Given the description of an element on the screen output the (x, y) to click on. 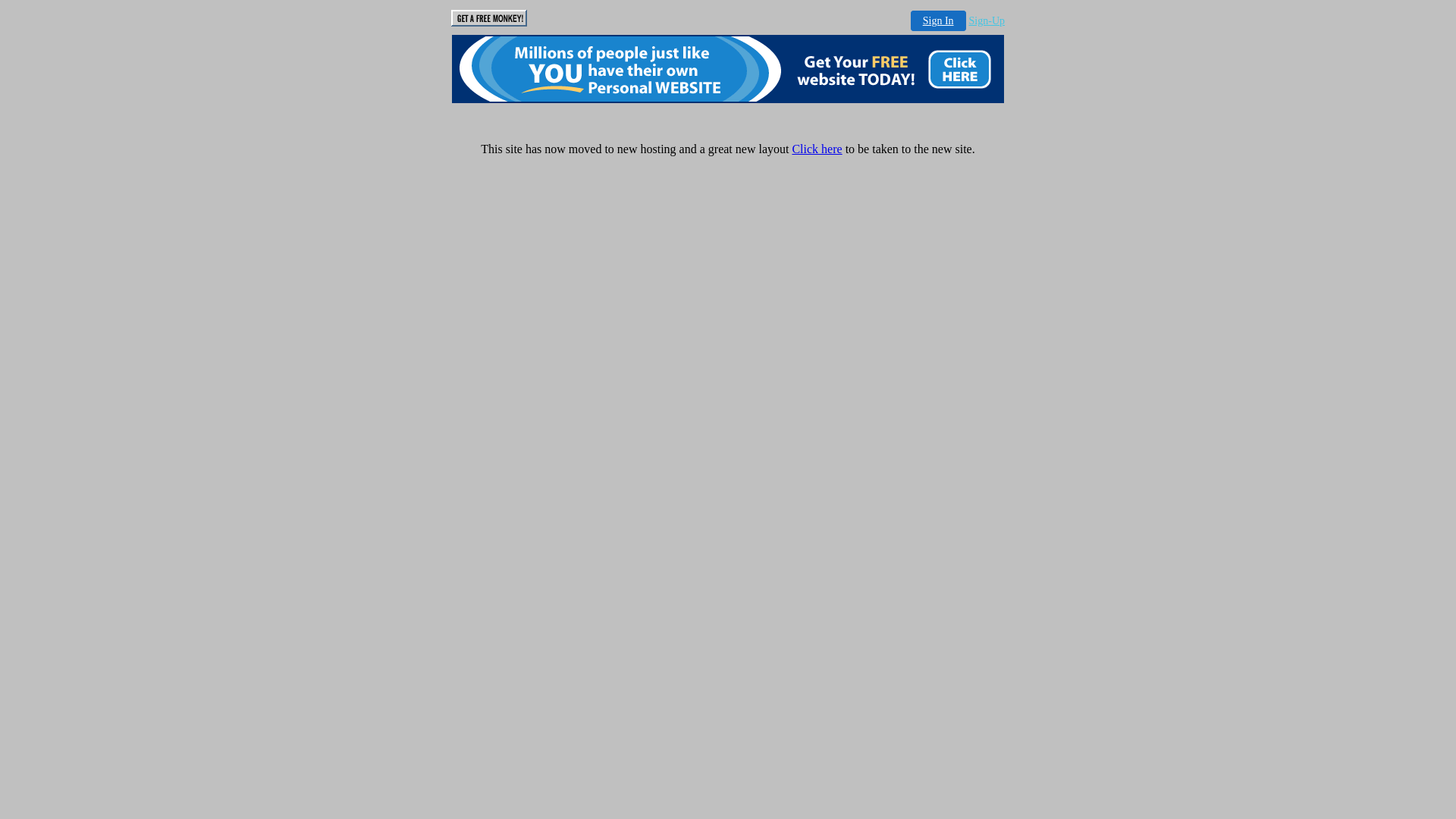
Sign In Element type: text (938, 20)
Click here Element type: text (816, 148)
Sign-Up Element type: text (986, 20)
